Given the description of an element on the screen output the (x, y) to click on. 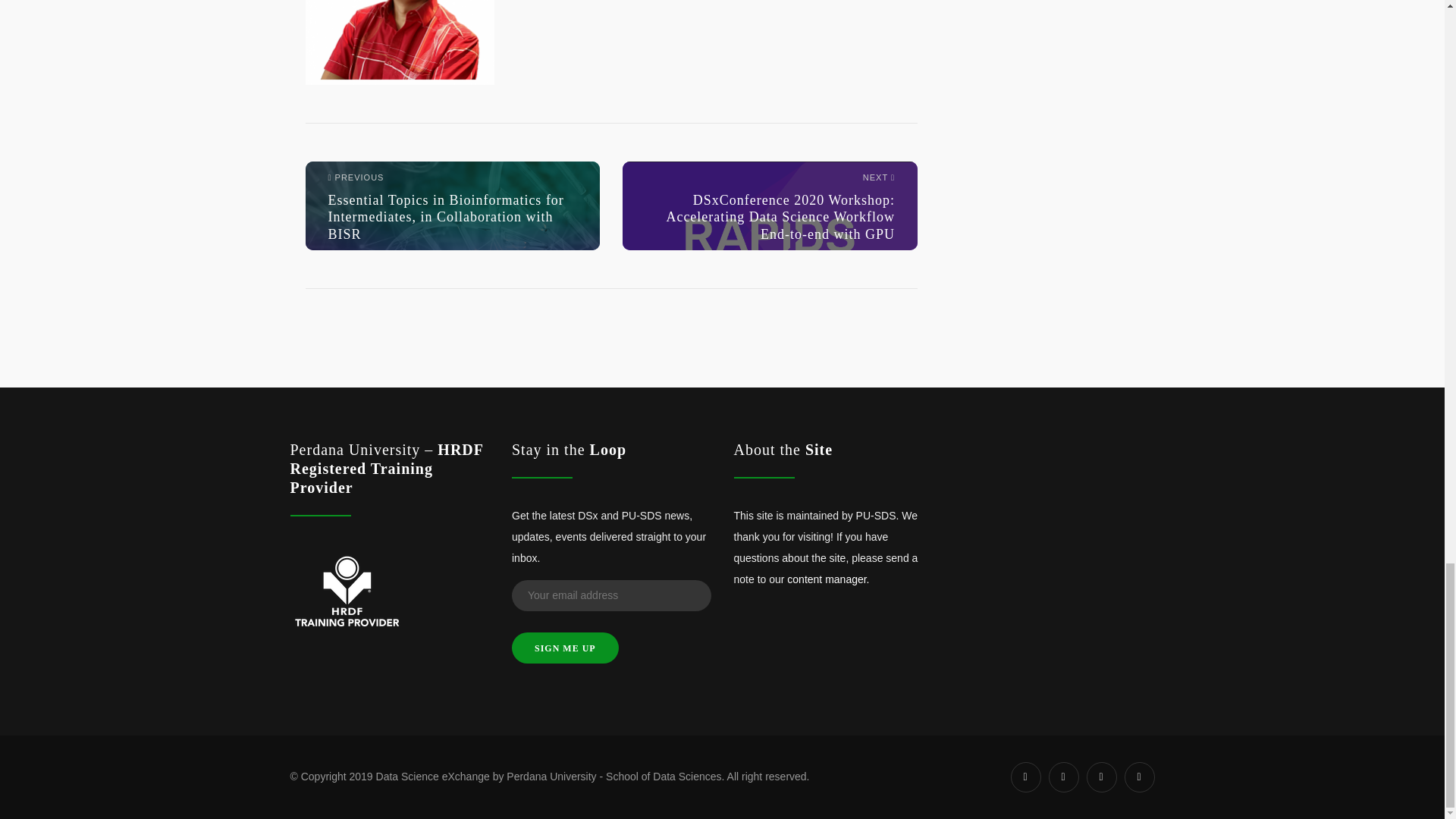
Sign Me Up (565, 647)
Peter Kua (398, 42)
